Given the description of an element on the screen output the (x, y) to click on. 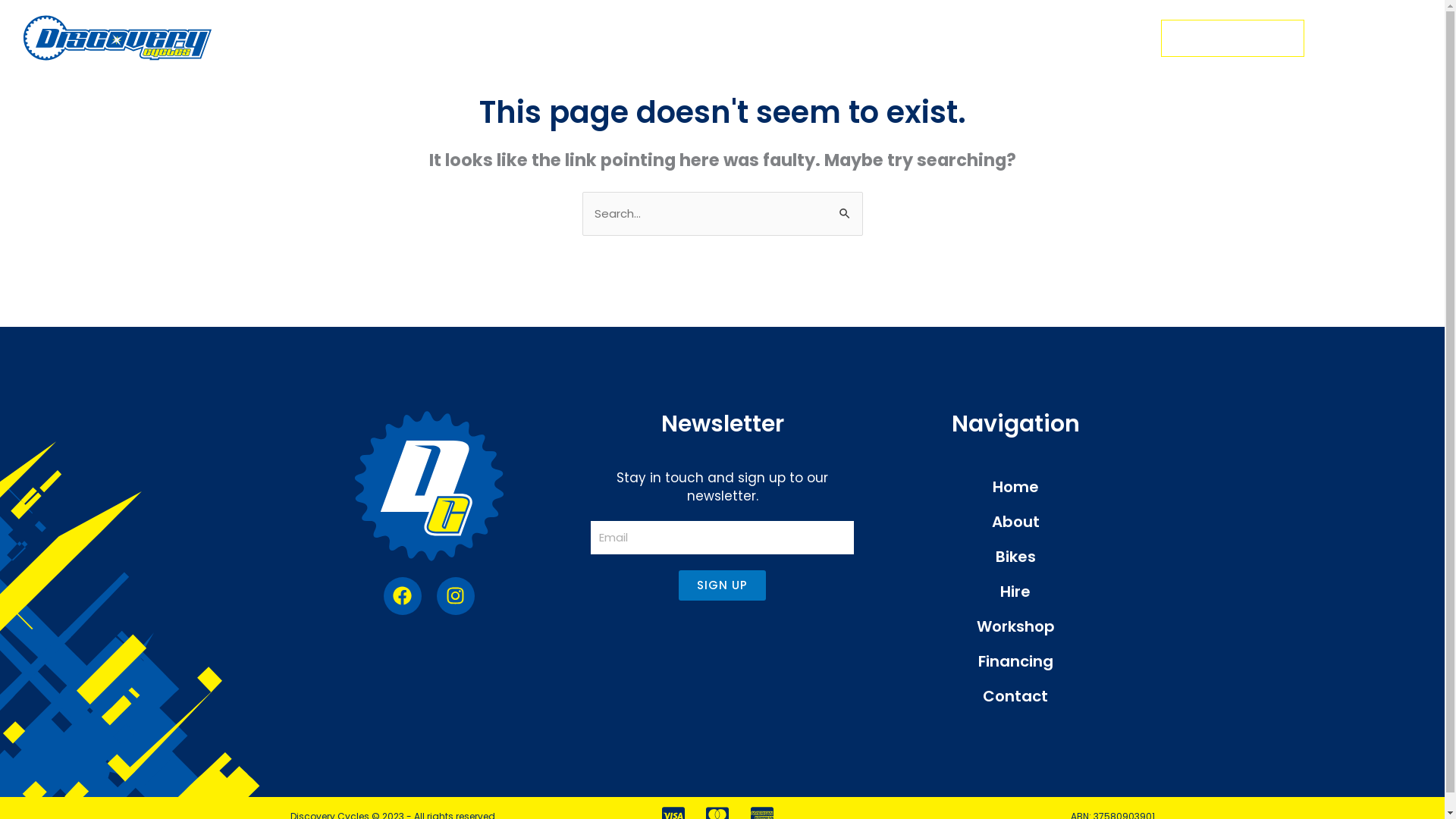
Facebook Element type: text (402, 595)
Contact Element type: text (1015, 695)
Home Element type: text (1015, 486)
07 4038 1186 Element type: text (1232, 37)
Hire Element type: text (1015, 591)
Bikes Element type: text (1015, 556)
SIGN UP Element type: text (721, 585)
Instagram Element type: text (455, 595)
Financing Element type: text (1015, 660)
Workshop Element type: text (1015, 625)
About Element type: text (1015, 521)
Search Element type: text (845, 206)
